Given the description of an element on the screen output the (x, y) to click on. 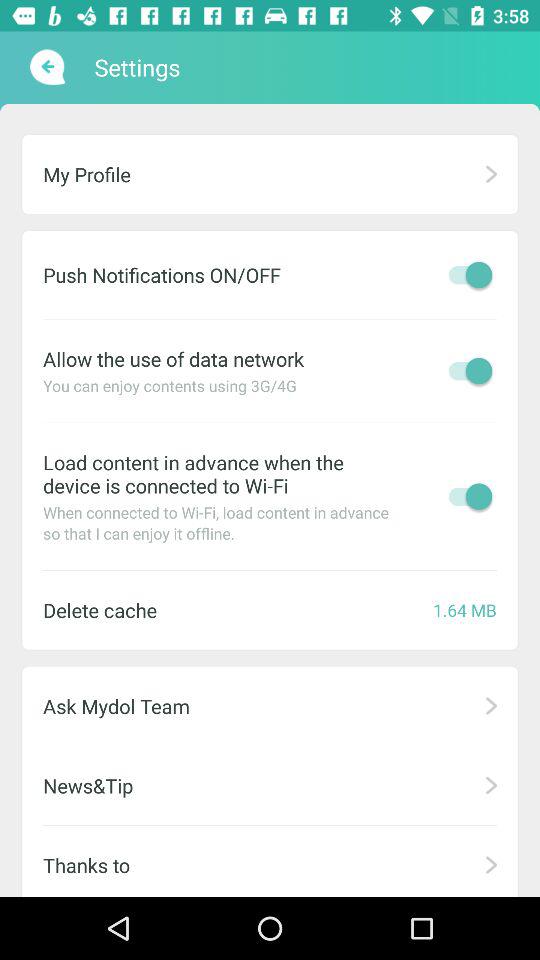
turn push notifications on or off (465, 274)
